Given the description of an element on the screen output the (x, y) to click on. 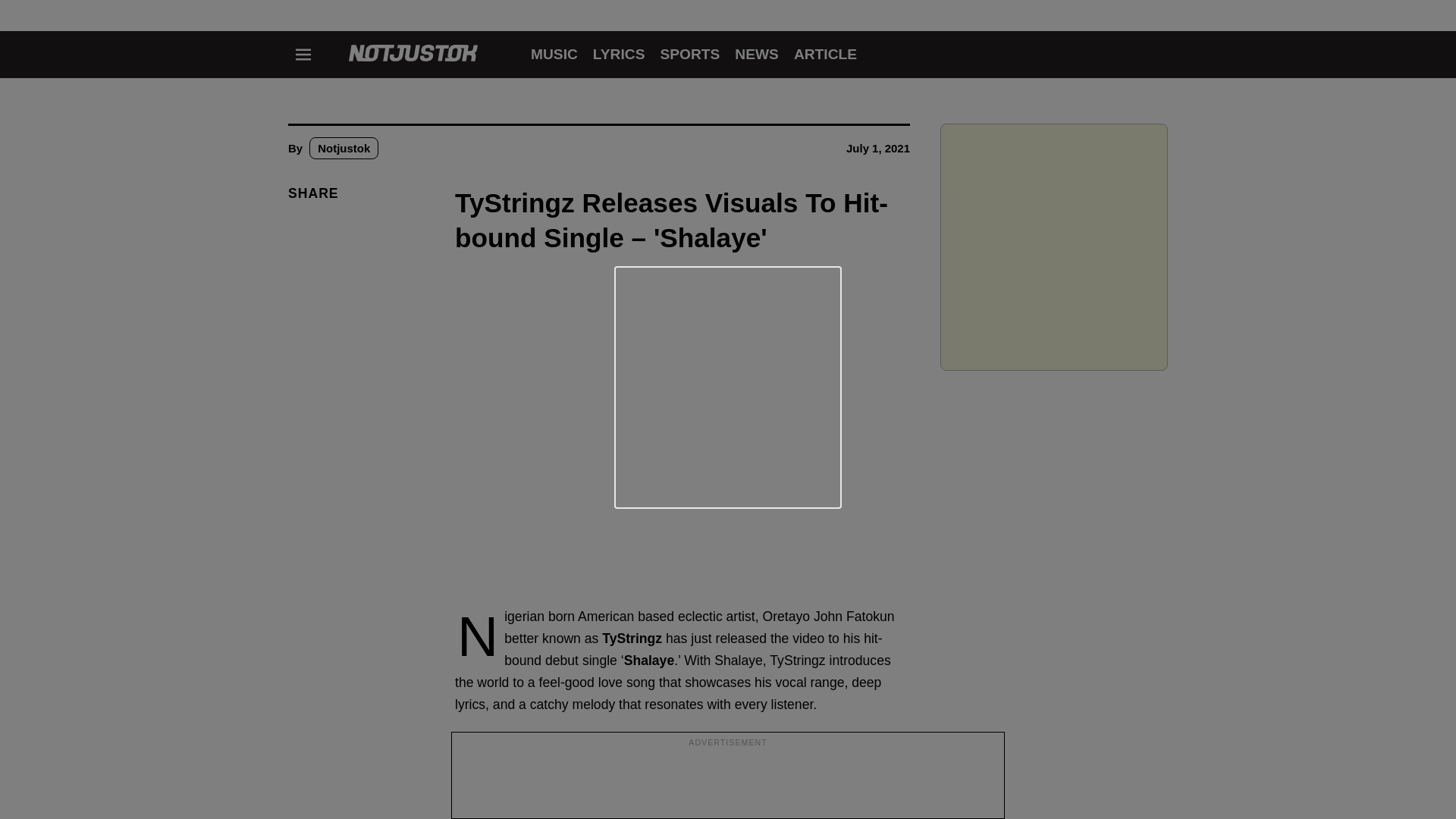
Posts by Notjustok (343, 147)
ARTICLE (825, 53)
NEWS (756, 53)
Notjustok (343, 147)
SPORTS (689, 53)
LYRICS (618, 53)
MUSIC (554, 53)
